Given the description of an element on the screen output the (x, y) to click on. 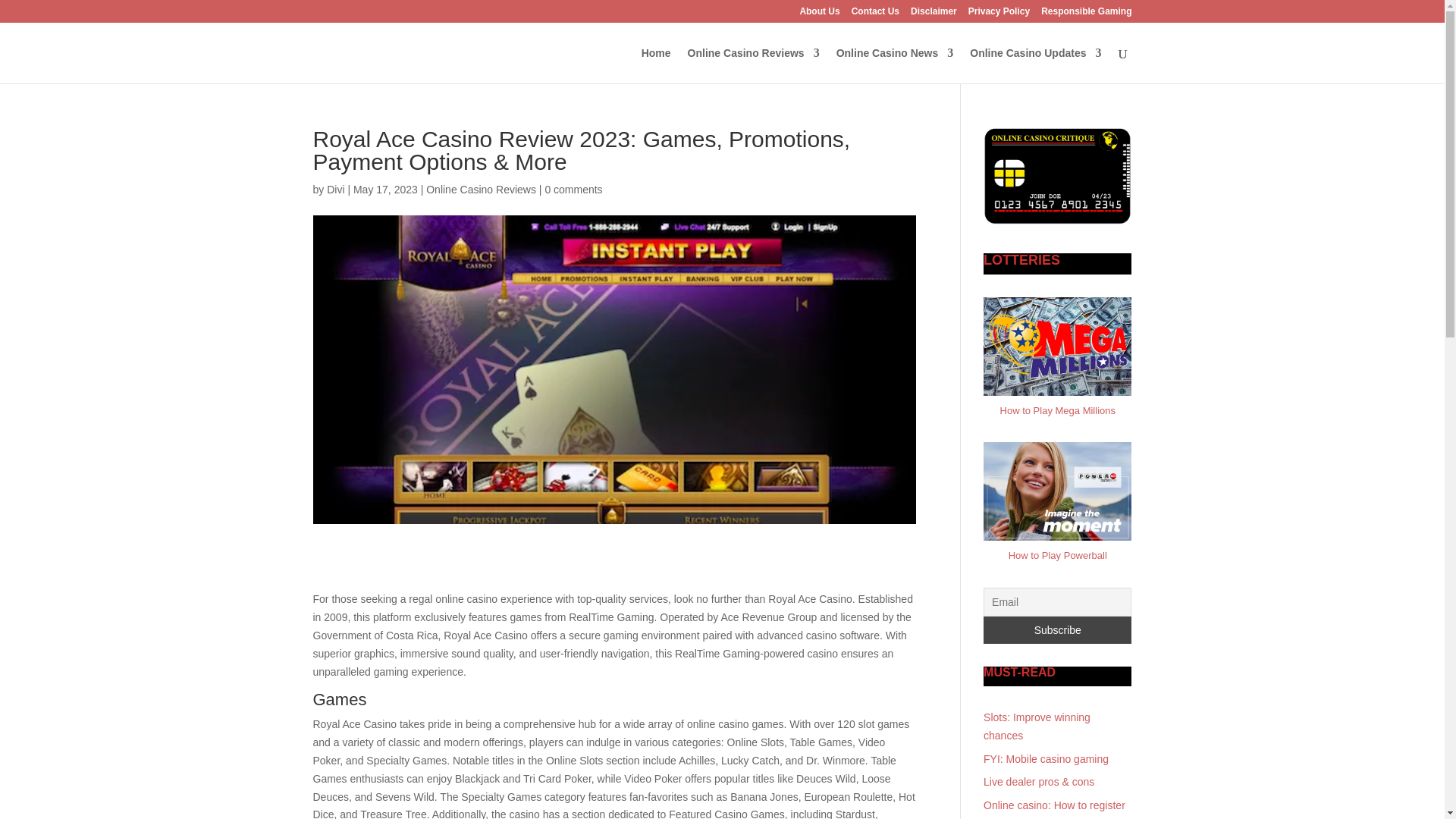
Posts by Divi (334, 189)
Subscribe (1057, 629)
Online Casino Reviews (480, 189)
Privacy Policy (998, 14)
How to Play Powerball (1057, 555)
Disclaimer (933, 14)
Online Casino Updates (1034, 65)
Subscribe (1057, 629)
Online Casino News (894, 65)
About Us (819, 14)
